Given the description of an element on the screen output the (x, y) to click on. 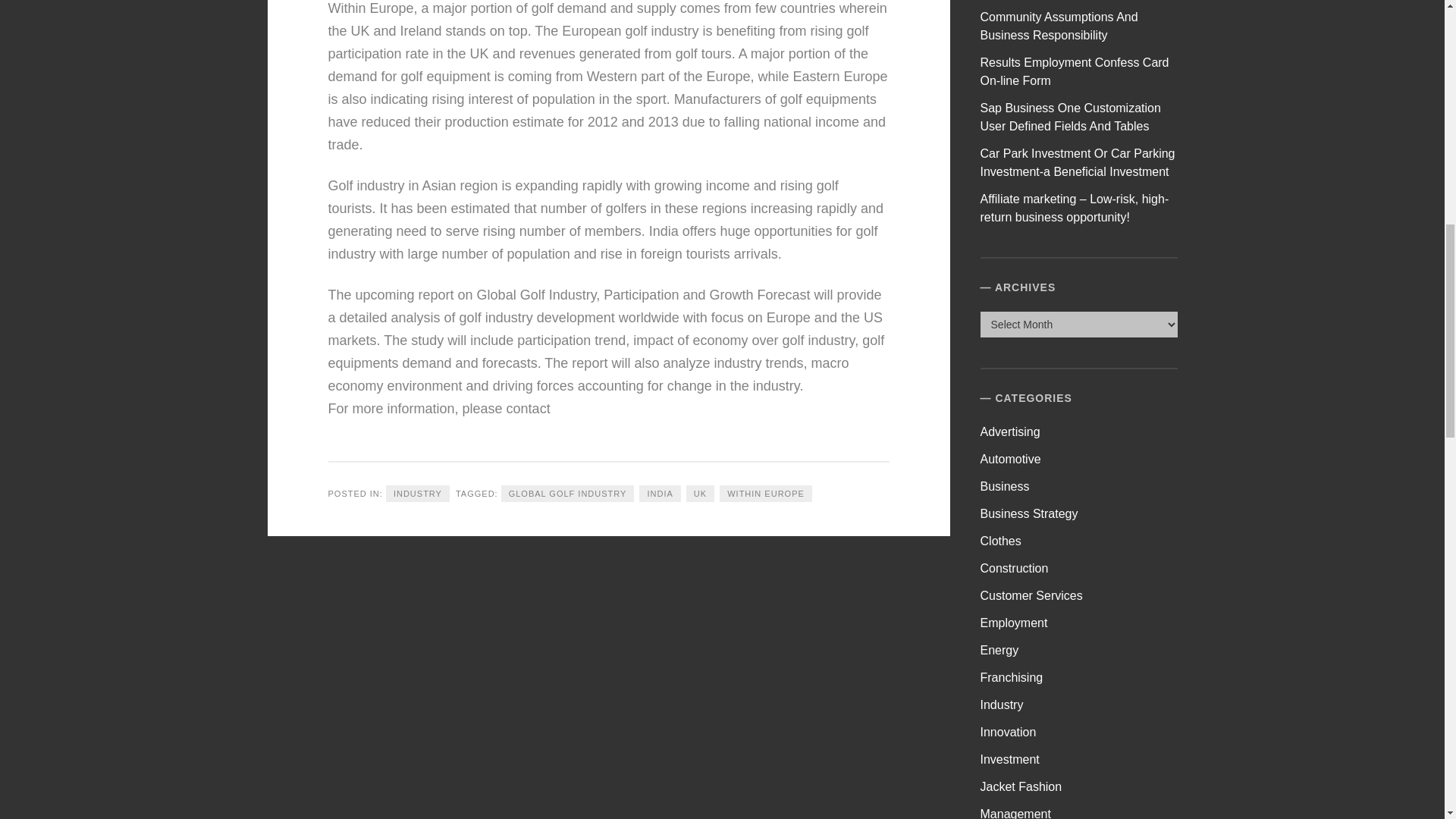
INDIA (659, 493)
Advertising (1010, 431)
INDUSTRY (417, 493)
UK (699, 493)
Business Strategy (1028, 513)
Energy (999, 649)
Employment (1013, 622)
Automotive (1010, 459)
GLOBAL GOLF INDUSTRY (567, 493)
Results Employment Confess Card On-line Form (1074, 71)
Community Assumptions And Business Responsibility (1058, 25)
Construction (1013, 567)
Business (1004, 486)
Clothes (1000, 540)
